Given the description of an element on the screen output the (x, y) to click on. 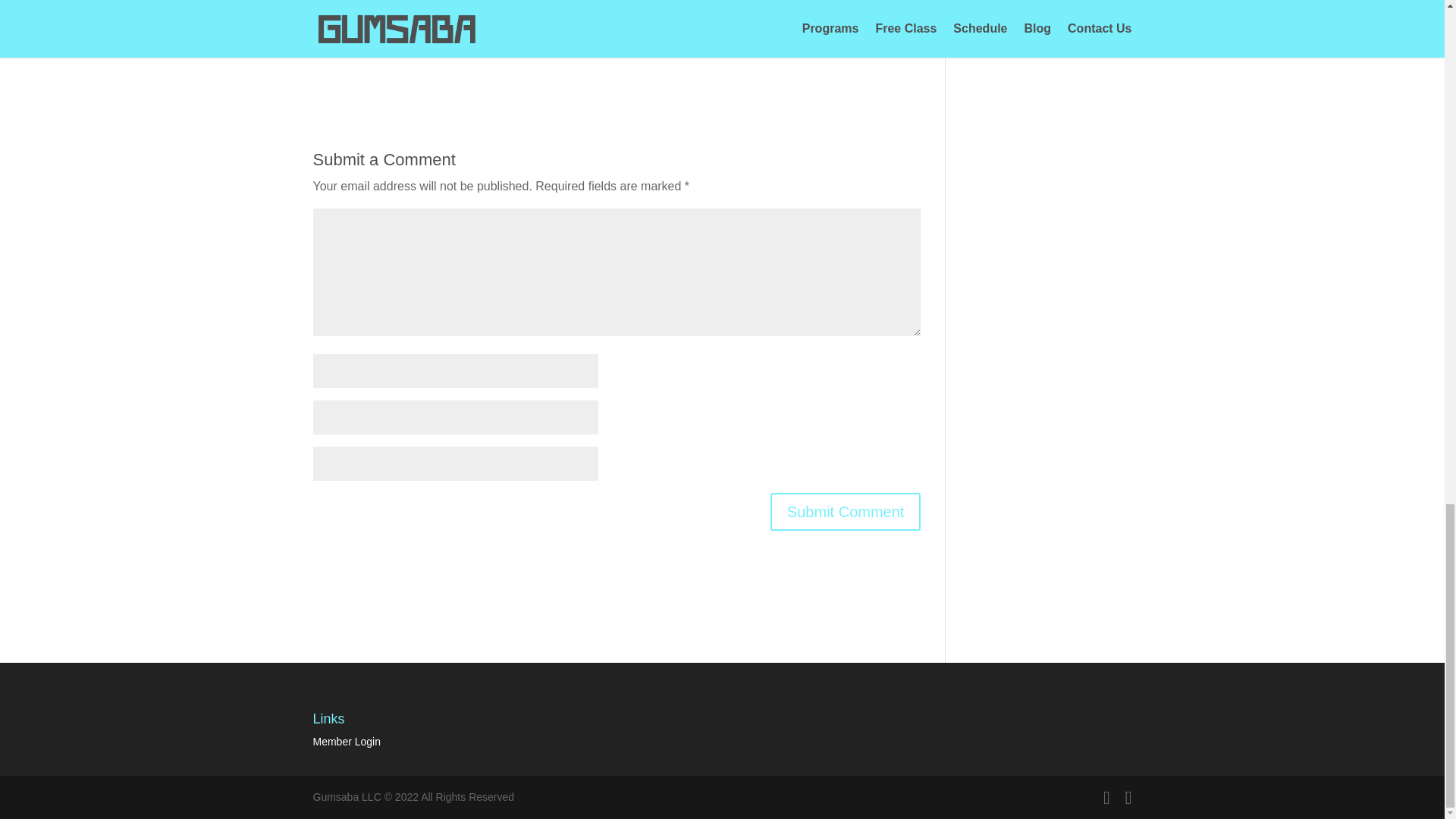
Member Login (346, 741)
Submit Comment (845, 511)
Submit Comment (845, 511)
